Given the description of an element on the screen output the (x, y) to click on. 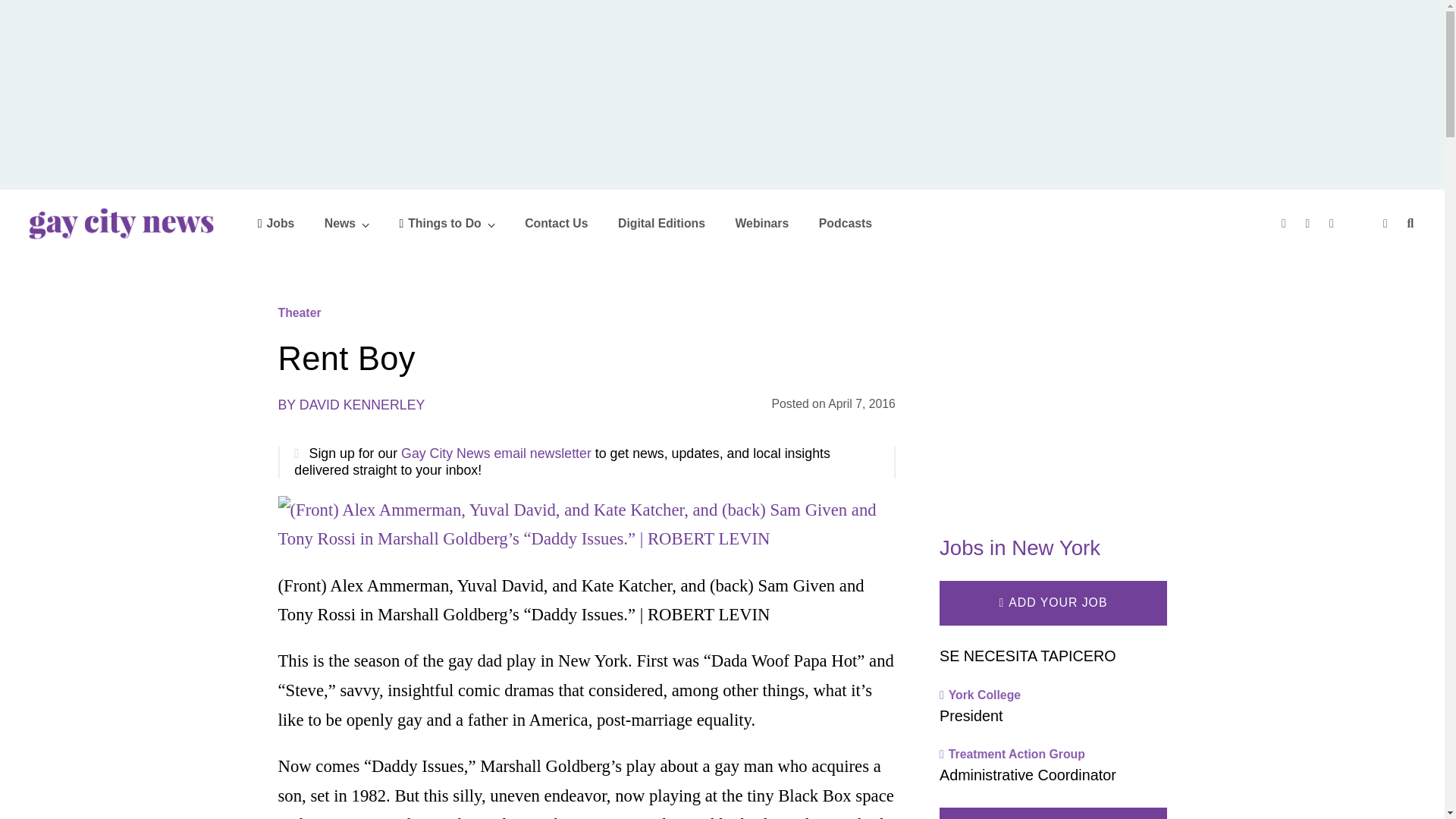
Things to Do (446, 223)
Podcasts (845, 223)
News (346, 223)
Webinars (762, 223)
Jobs (276, 223)
Digital Editions (660, 223)
Contact Us (556, 223)
